Given the description of an element on the screen output the (x, y) to click on. 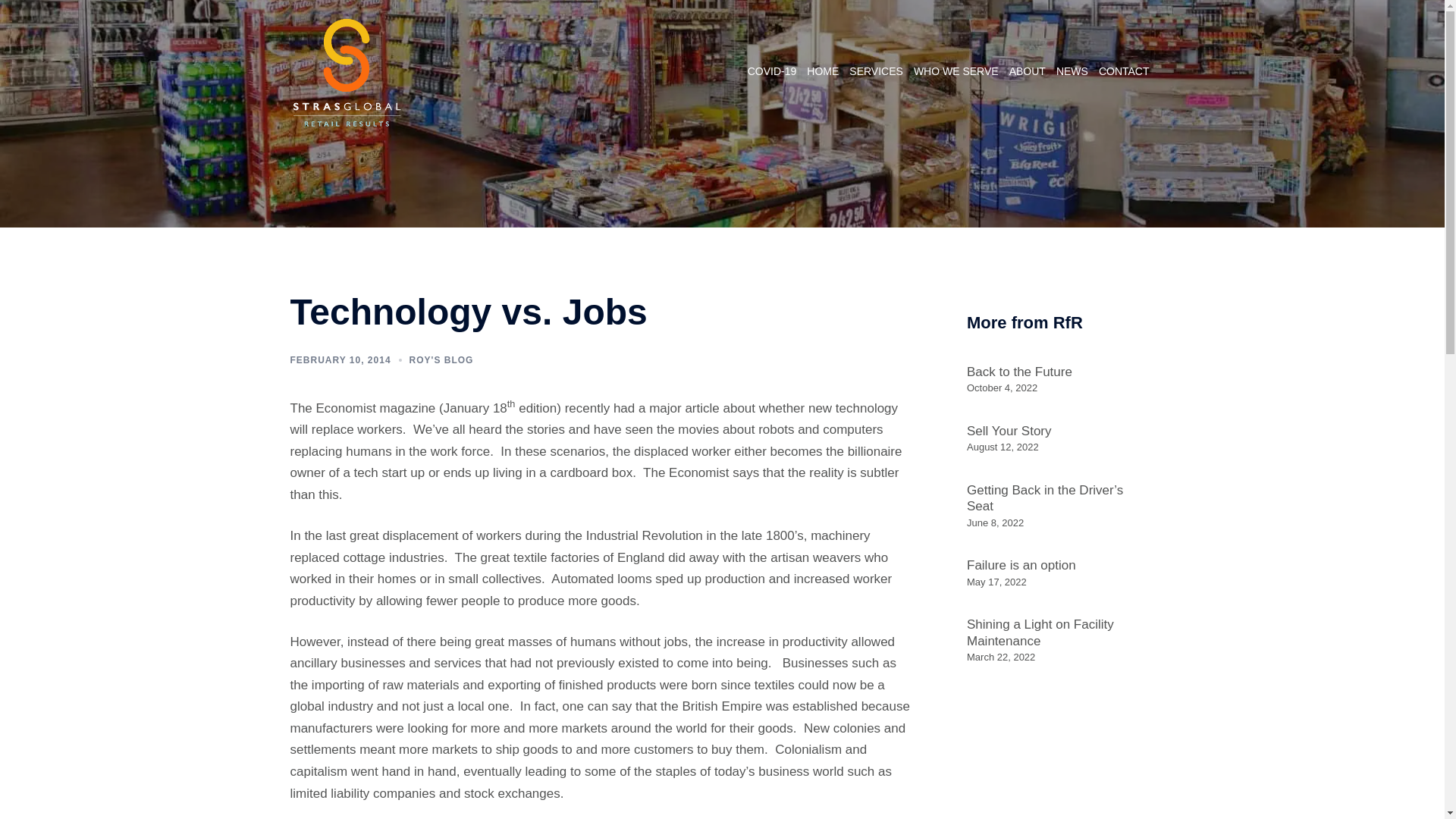
Back to the Future (1018, 371)
NEWS (1072, 72)
ABOUT (1027, 72)
HOME (822, 72)
Failure is an option (1020, 564)
ROY'S BLOG (441, 359)
SERVICES (875, 72)
WHO WE SERVE (956, 72)
Shining a Light on Facility Maintenance (1039, 632)
